Given the description of an element on the screen output the (x, y) to click on. 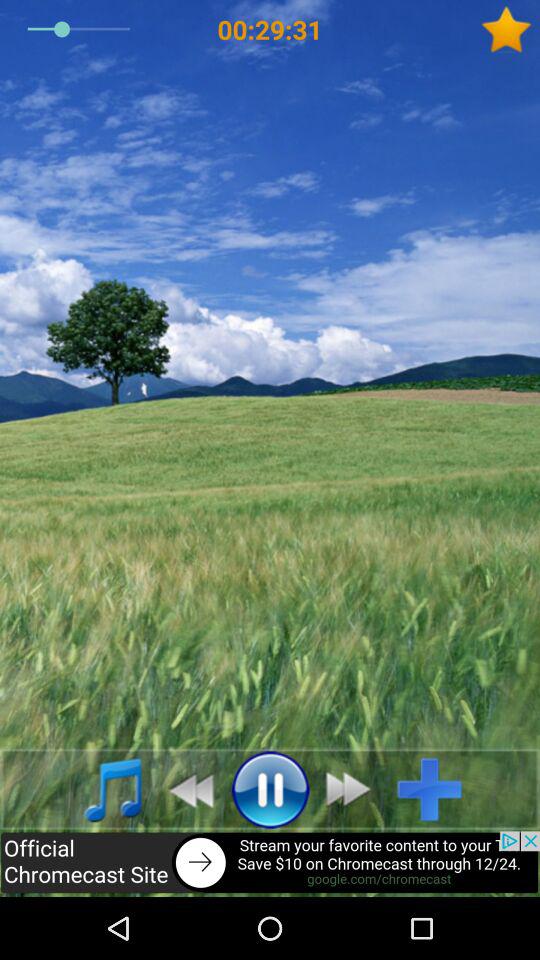
go to next (353, 789)
